Given the description of an element on the screen output the (x, y) to click on. 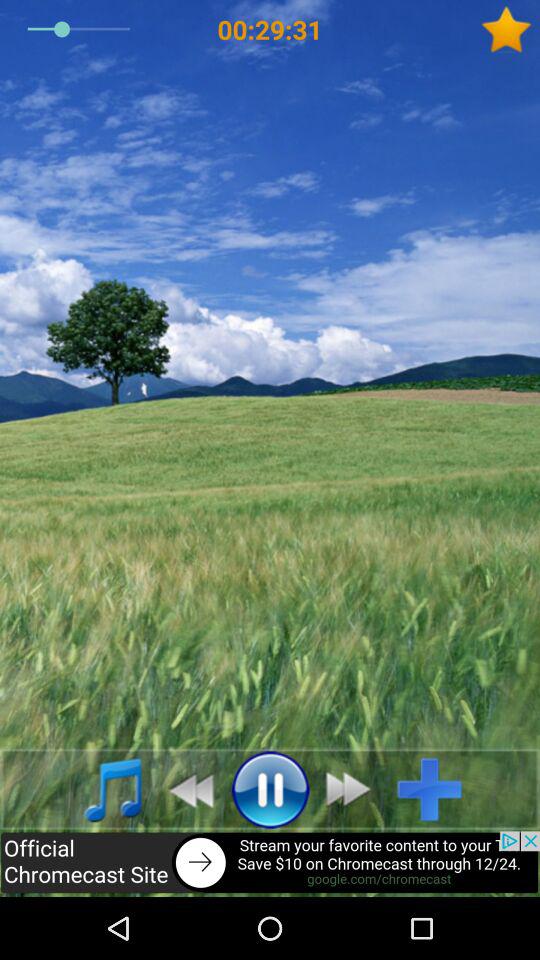
go to next (353, 789)
